Given the description of an element on the screen output the (x, y) to click on. 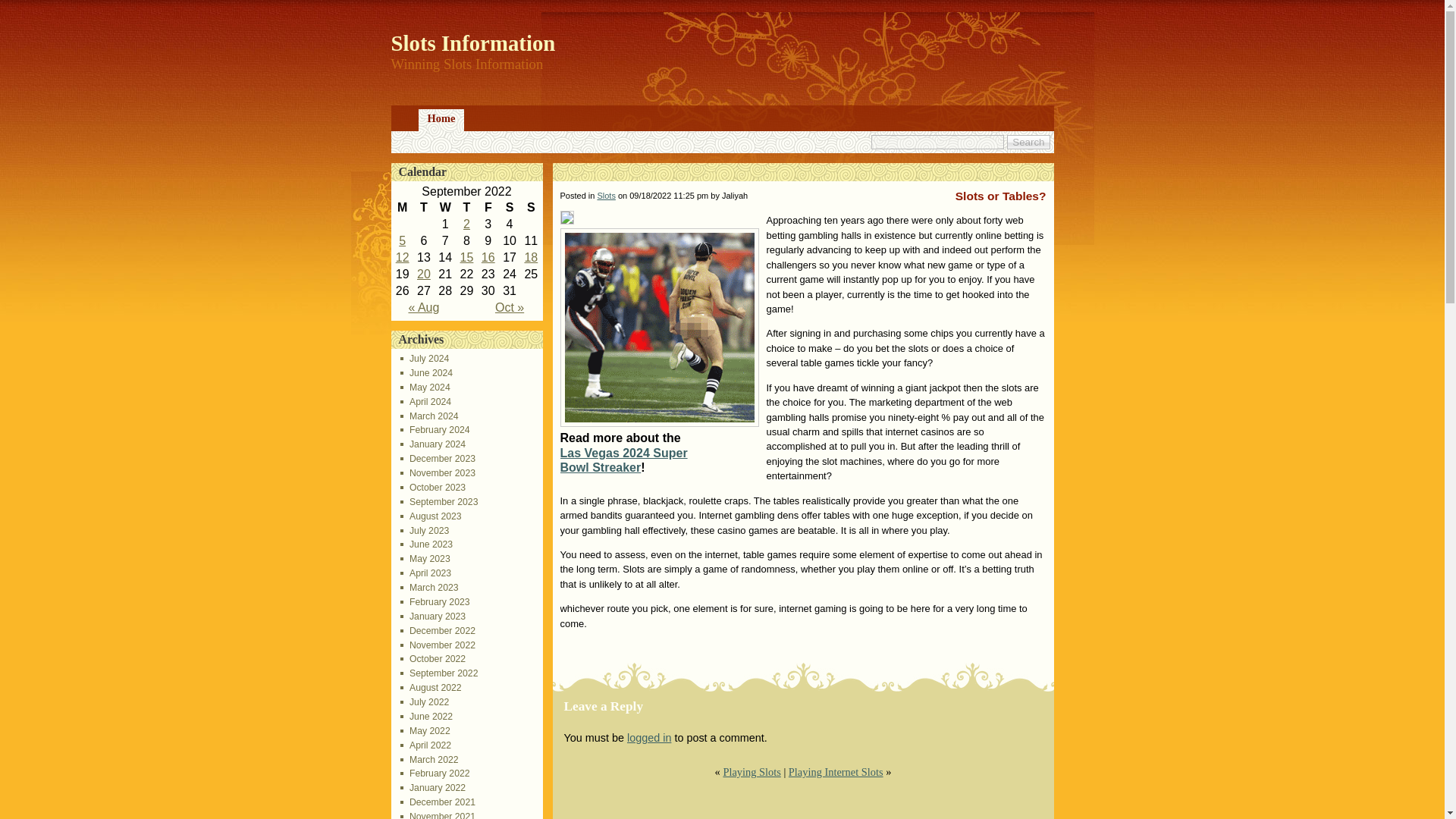
August 2022 (430, 687)
December 2023 (438, 458)
July 2022 (424, 701)
February 2023 (435, 602)
Tuesday (423, 207)
Wednesday (444, 207)
View posts for August 2022 (423, 307)
16 (488, 256)
12 (402, 256)
December 2022 (438, 630)
15 (467, 256)
View posts for October 2022 (509, 307)
Sunday (530, 207)
June 2023 (426, 543)
March 2024 (429, 416)
